Given the description of an element on the screen output the (x, y) to click on. 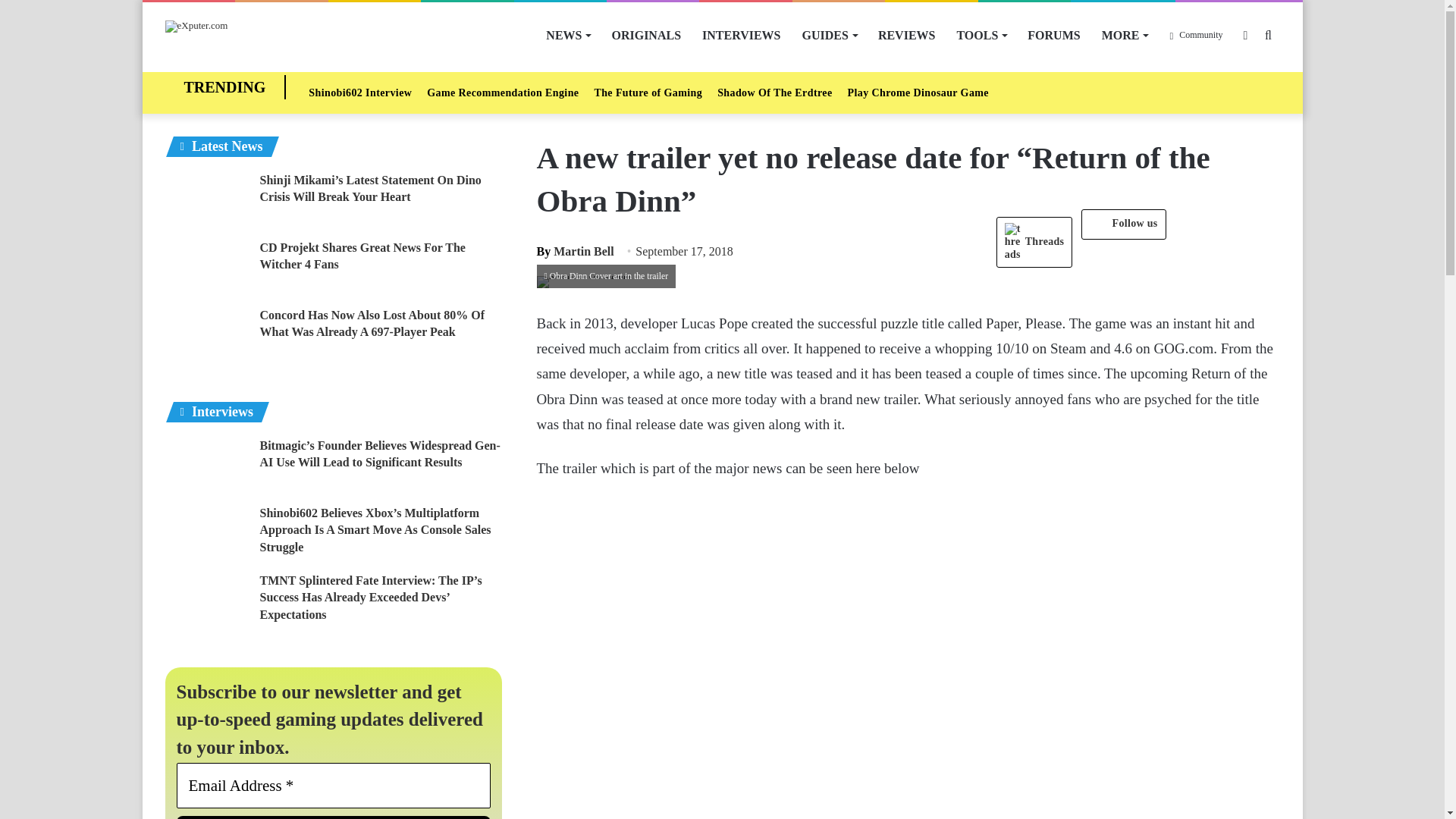
REVIEWS (906, 35)
NEWS (567, 35)
Martin Bell (575, 250)
ORIGINALS (645, 35)
FORUMS (1053, 35)
GUIDES (829, 35)
MORE (1124, 35)
INTERVIEWS (740, 35)
TOOLS (980, 35)
